Given the description of an element on the screen output the (x, y) to click on. 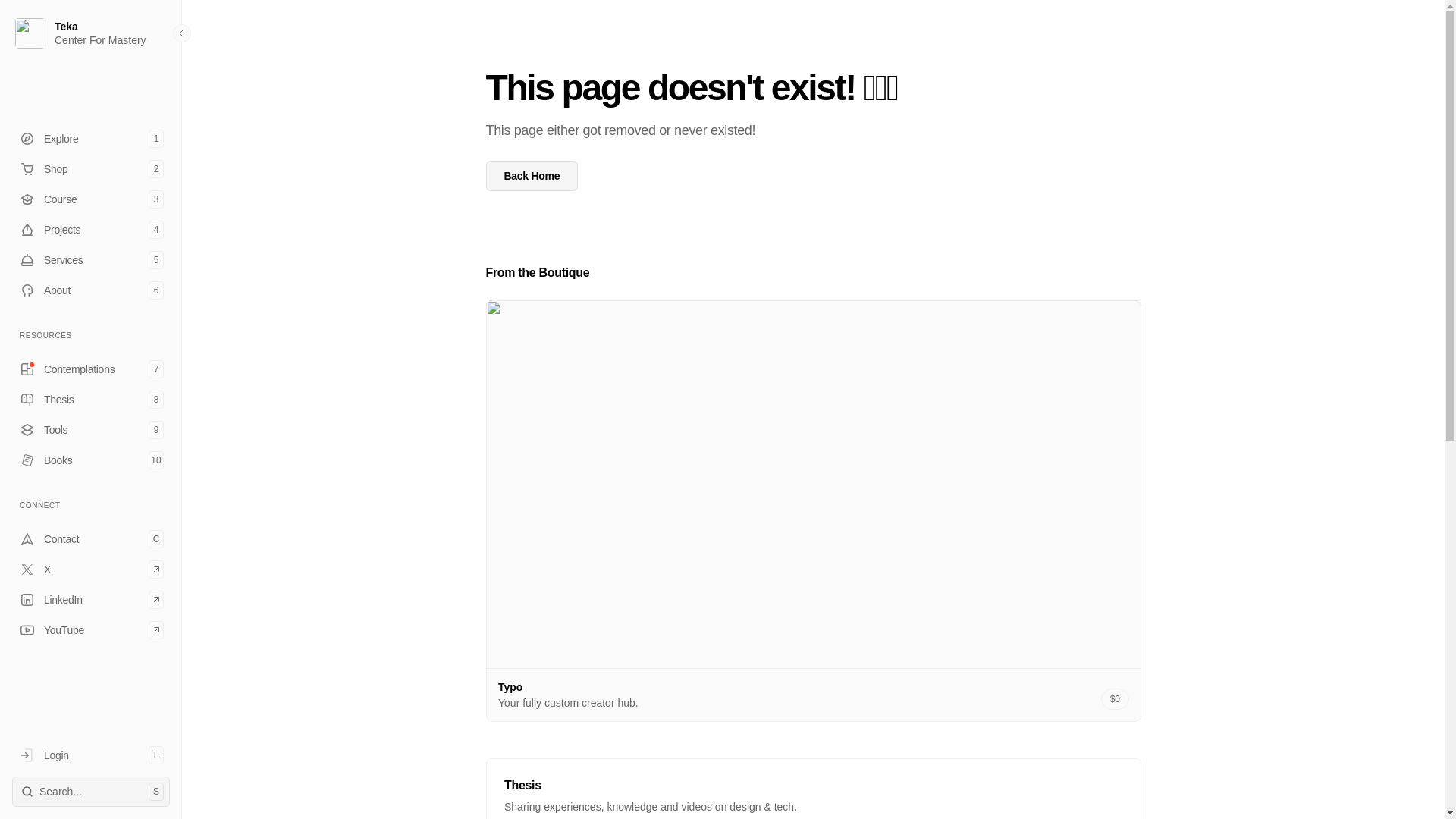
YouTube (90, 429)
Back Home (90, 399)
X (90, 259)
